Given the description of an element on the screen output the (x, y) to click on. 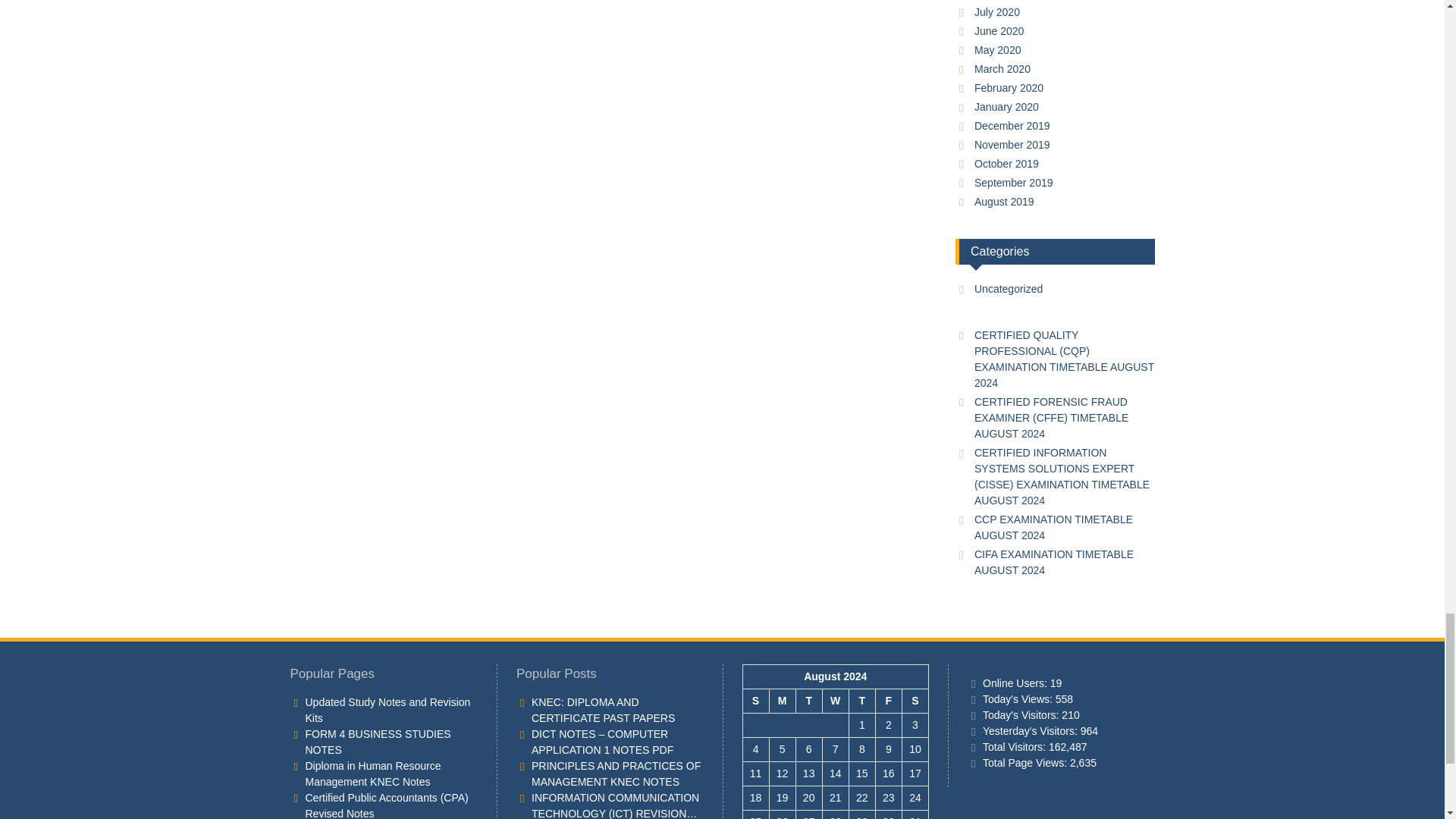
Wednesday (835, 700)
Sunday (755, 700)
Friday (888, 700)
Saturday (914, 700)
Monday (781, 700)
Thursday (861, 700)
Tuesday (808, 700)
